Given the description of an element on the screen output the (x, y) to click on. 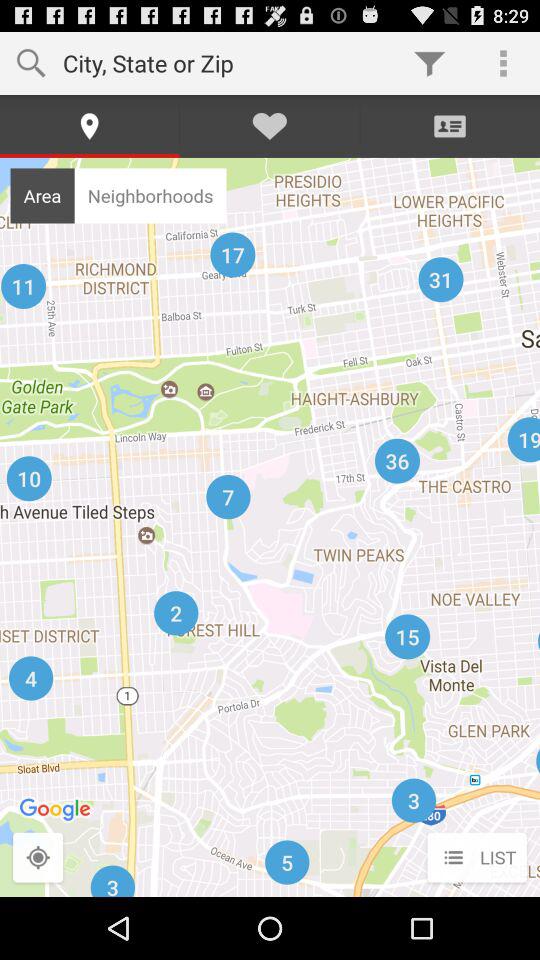
go to lucation (37, 858)
